Given the description of an element on the screen output the (x, y) to click on. 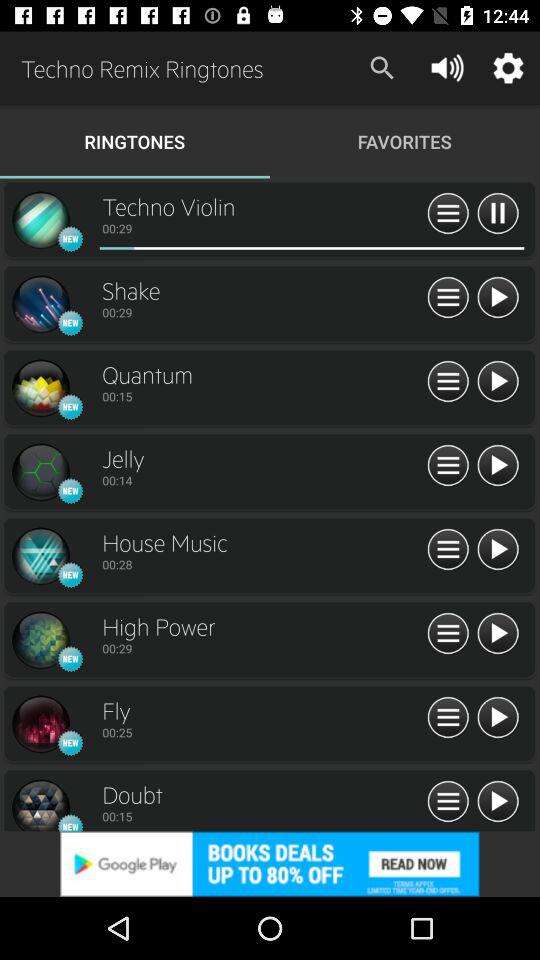
pause (497, 213)
